Given the description of an element on the screen output the (x, y) to click on. 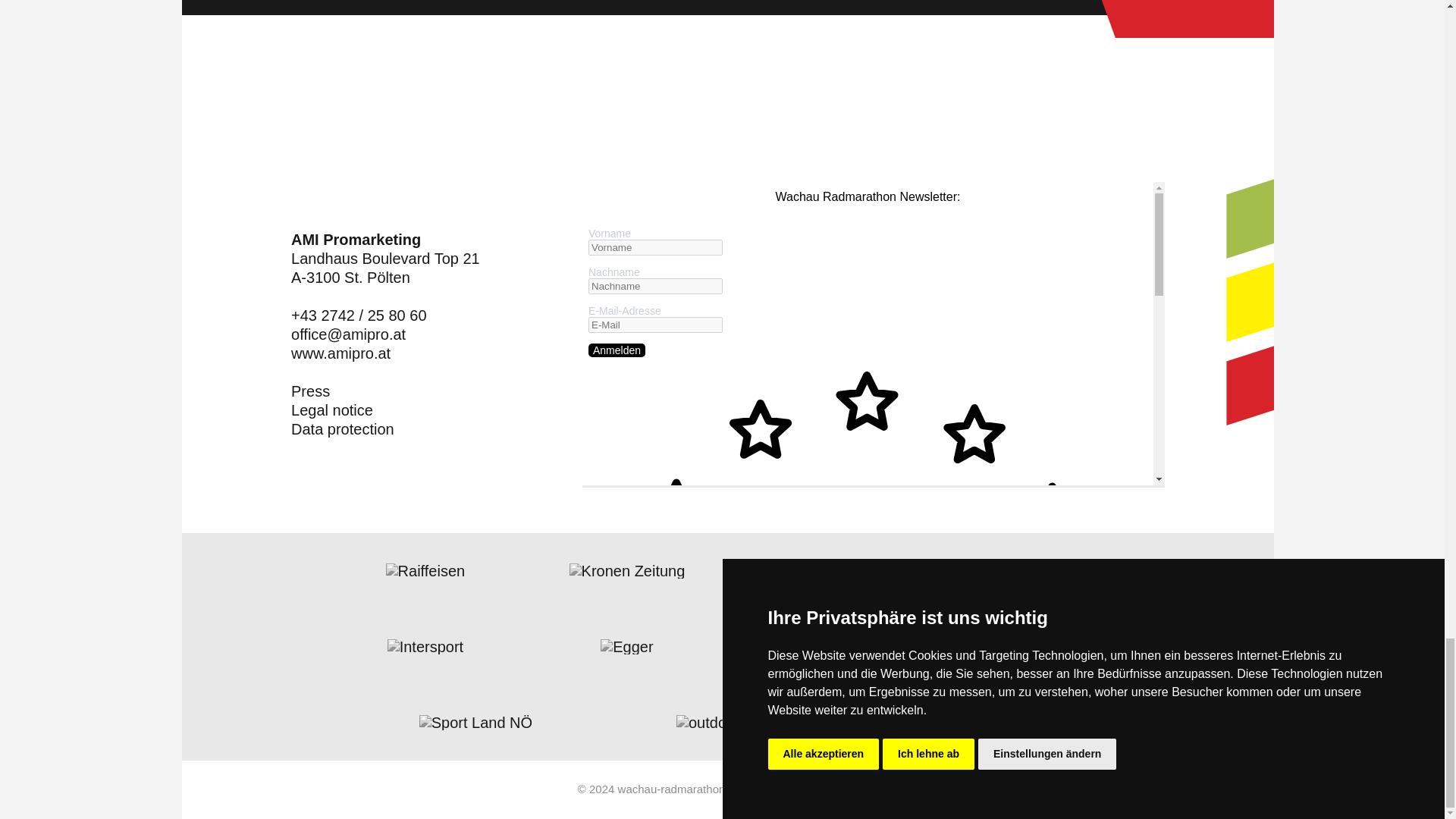
Outdooractive (727, 722)
Raiffeisen (425, 570)
NV (828, 570)
Press (310, 391)
Grannys (828, 646)
Press (310, 391)
Egger Bier (625, 646)
Legal notice (331, 410)
www.amipro.at (340, 353)
Intersport (425, 646)
